Given the description of an element on the screen output the (x, y) to click on. 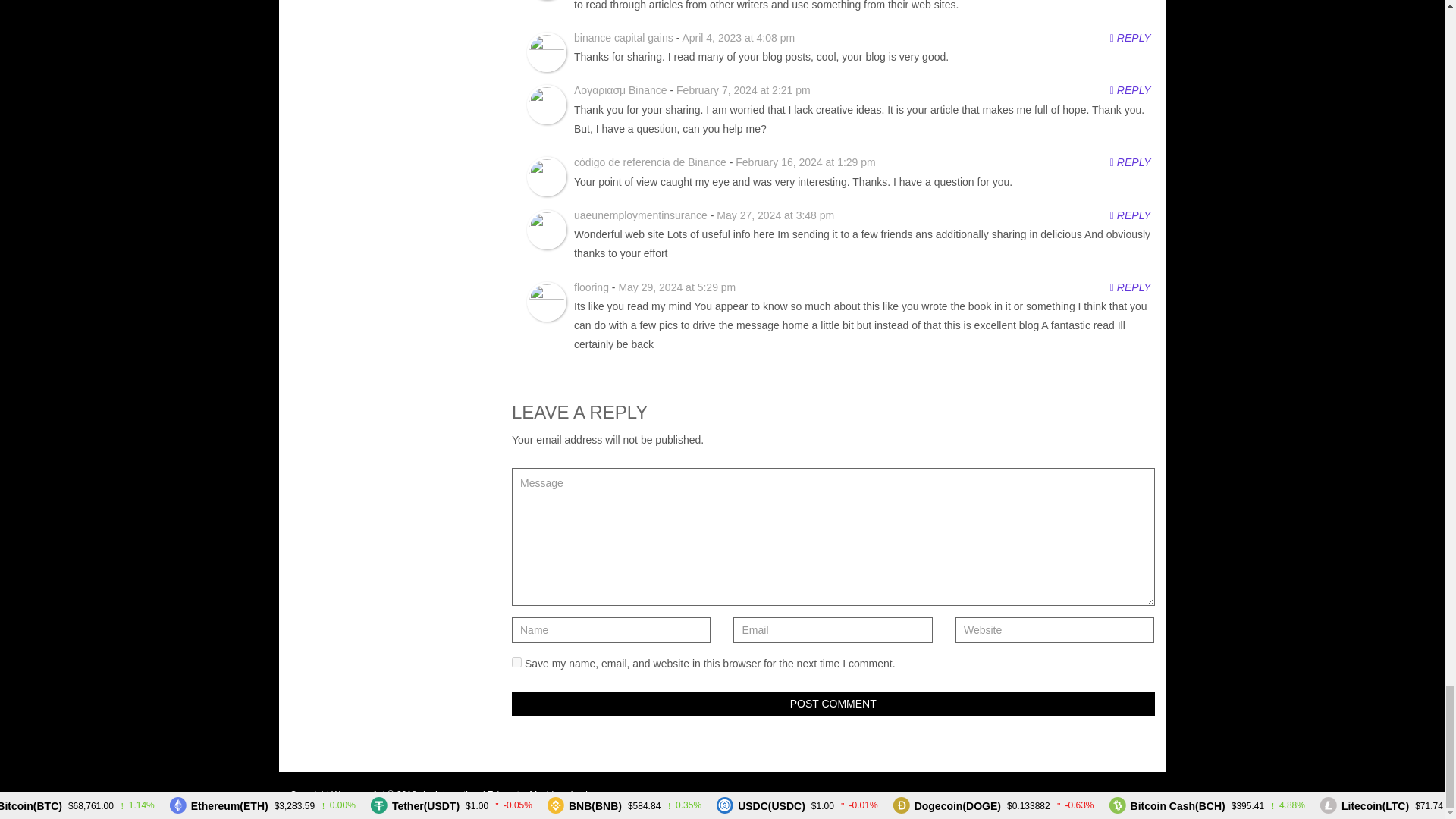
yes (516, 662)
Post Comment (833, 703)
